Given the description of an element on the screen output the (x, y) to click on. 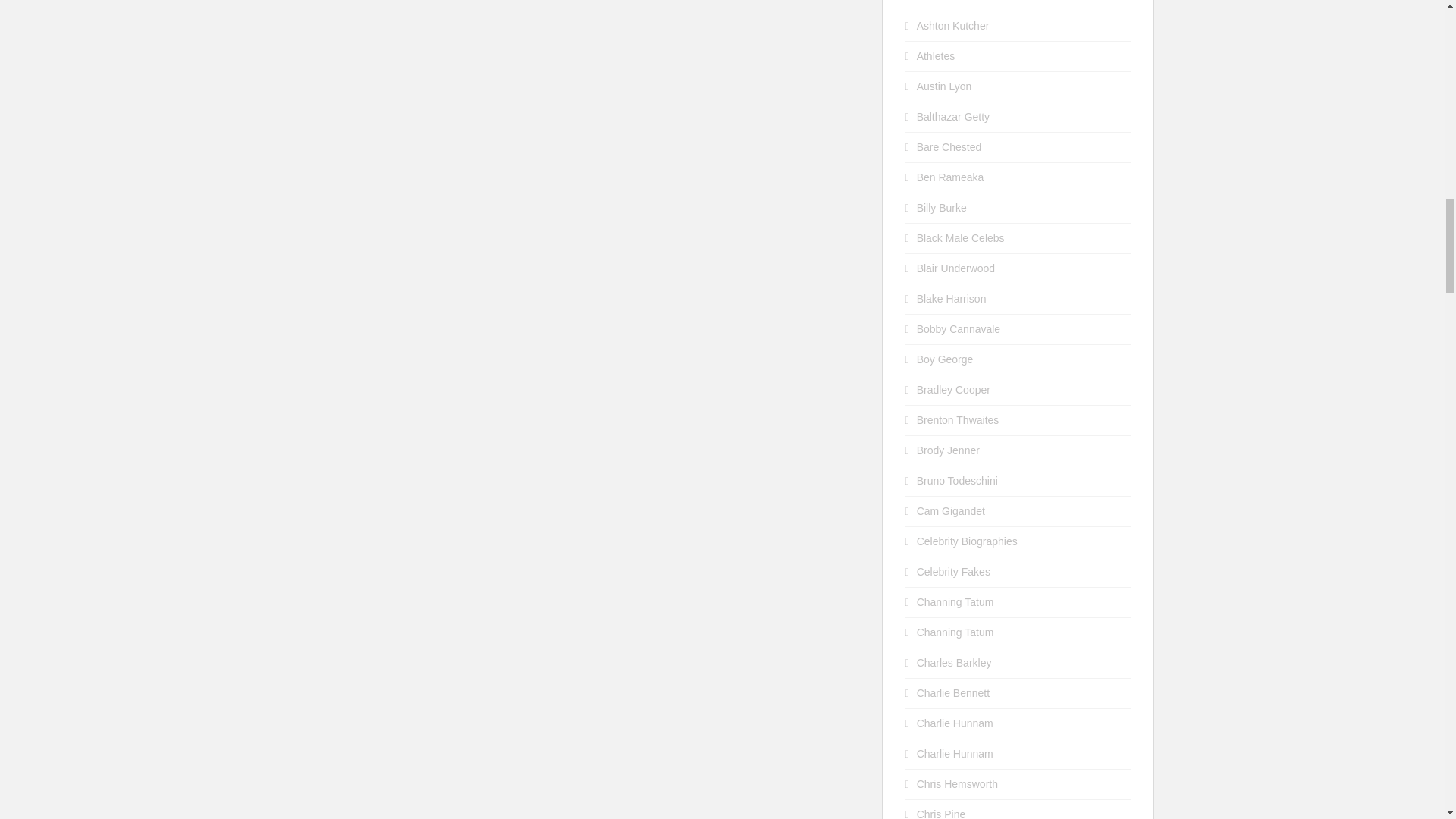
Athletes (936, 55)
Ashton Kutcher (953, 0)
Ashton Kutcher (953, 25)
Balthazar Getty (953, 116)
Austin Lyon (944, 86)
Bare Chested (949, 146)
